Given the description of an element on the screen output the (x, y) to click on. 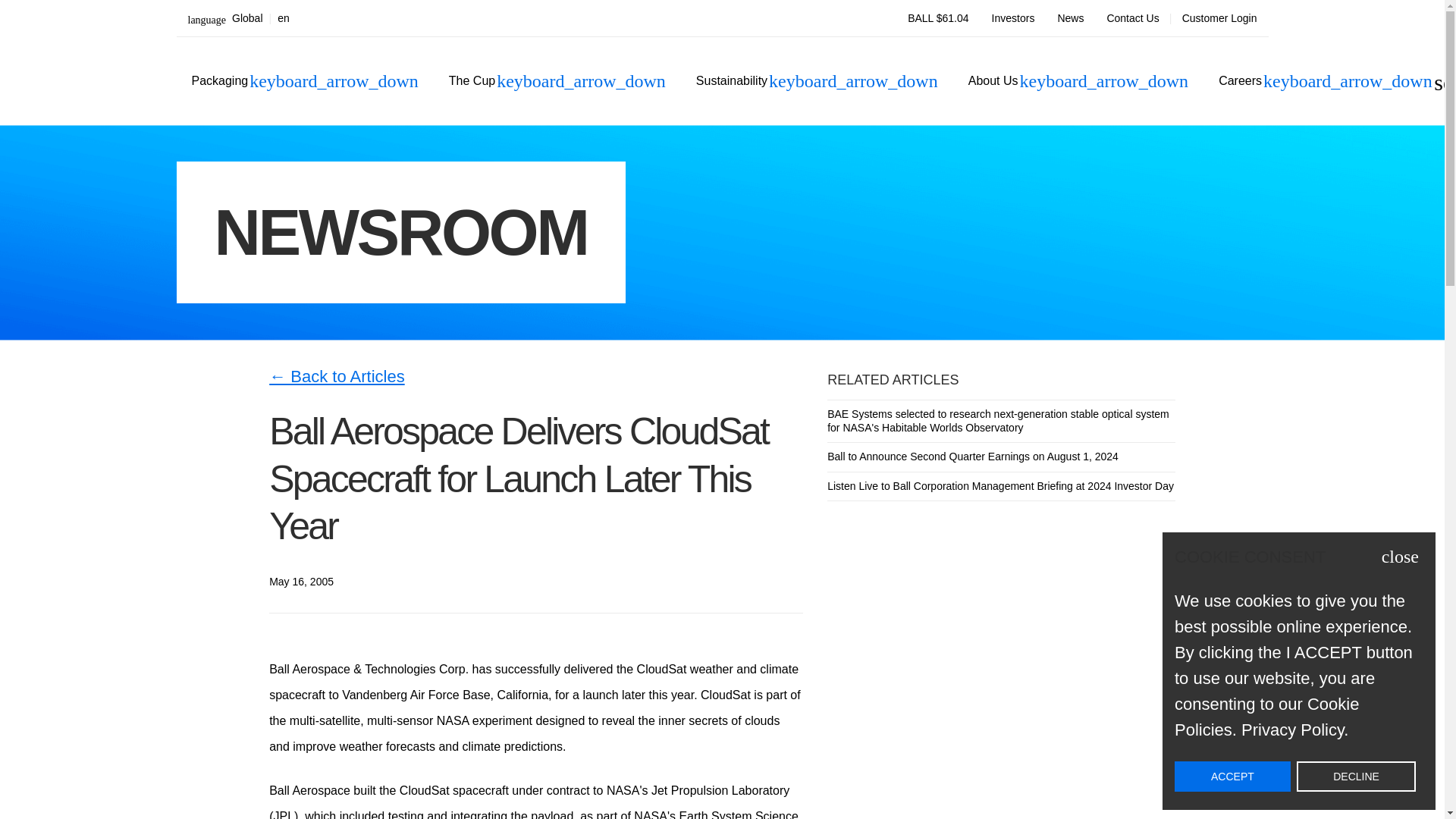
Customer Login (237, 18)
Investors (1219, 18)
Contact Us (1012, 18)
News (1132, 18)
